Given the description of an element on the screen output the (x, y) to click on. 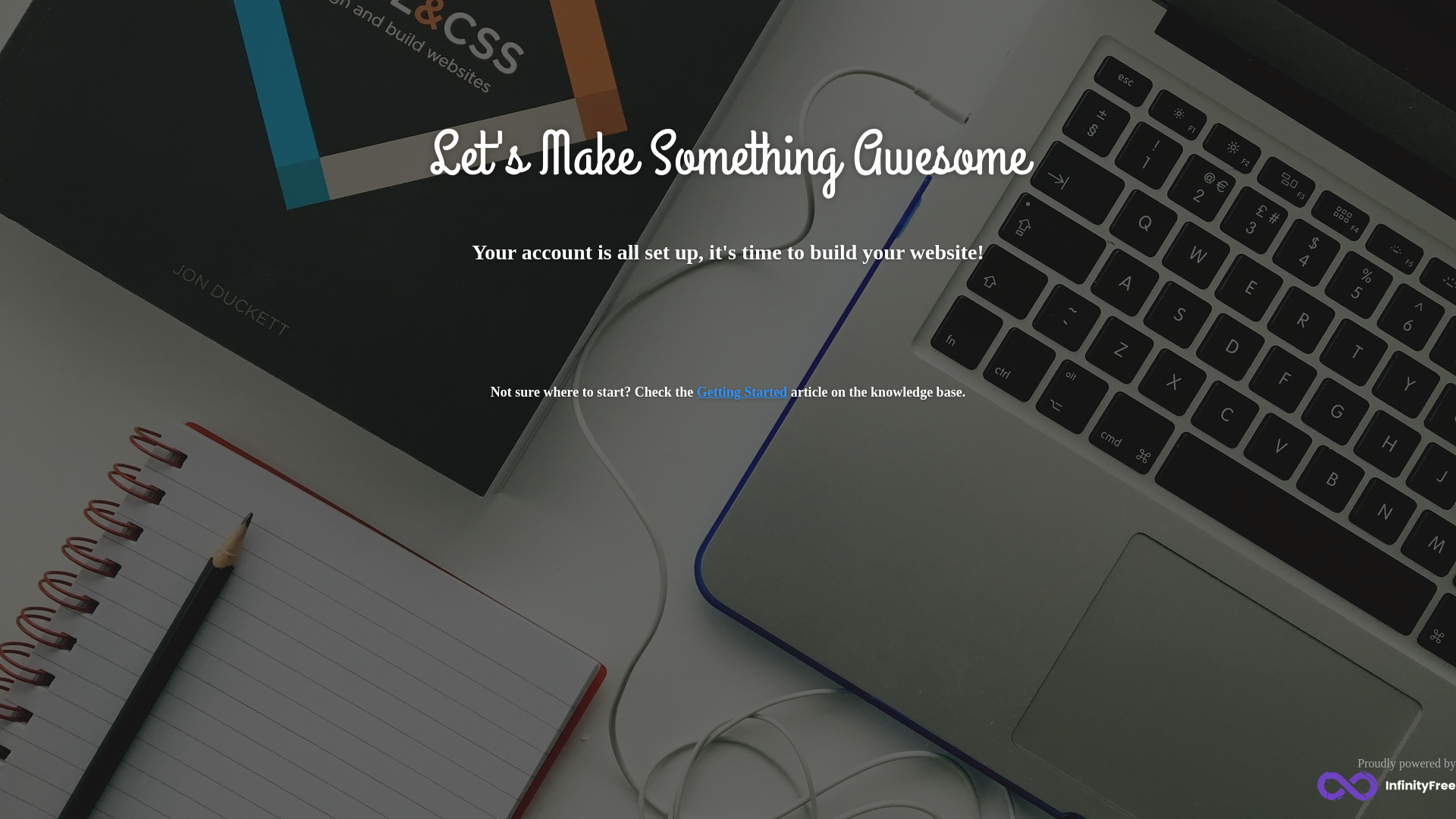
Getting Started Element type: text (741, 391)
